Given the description of an element on the screen output the (x, y) to click on. 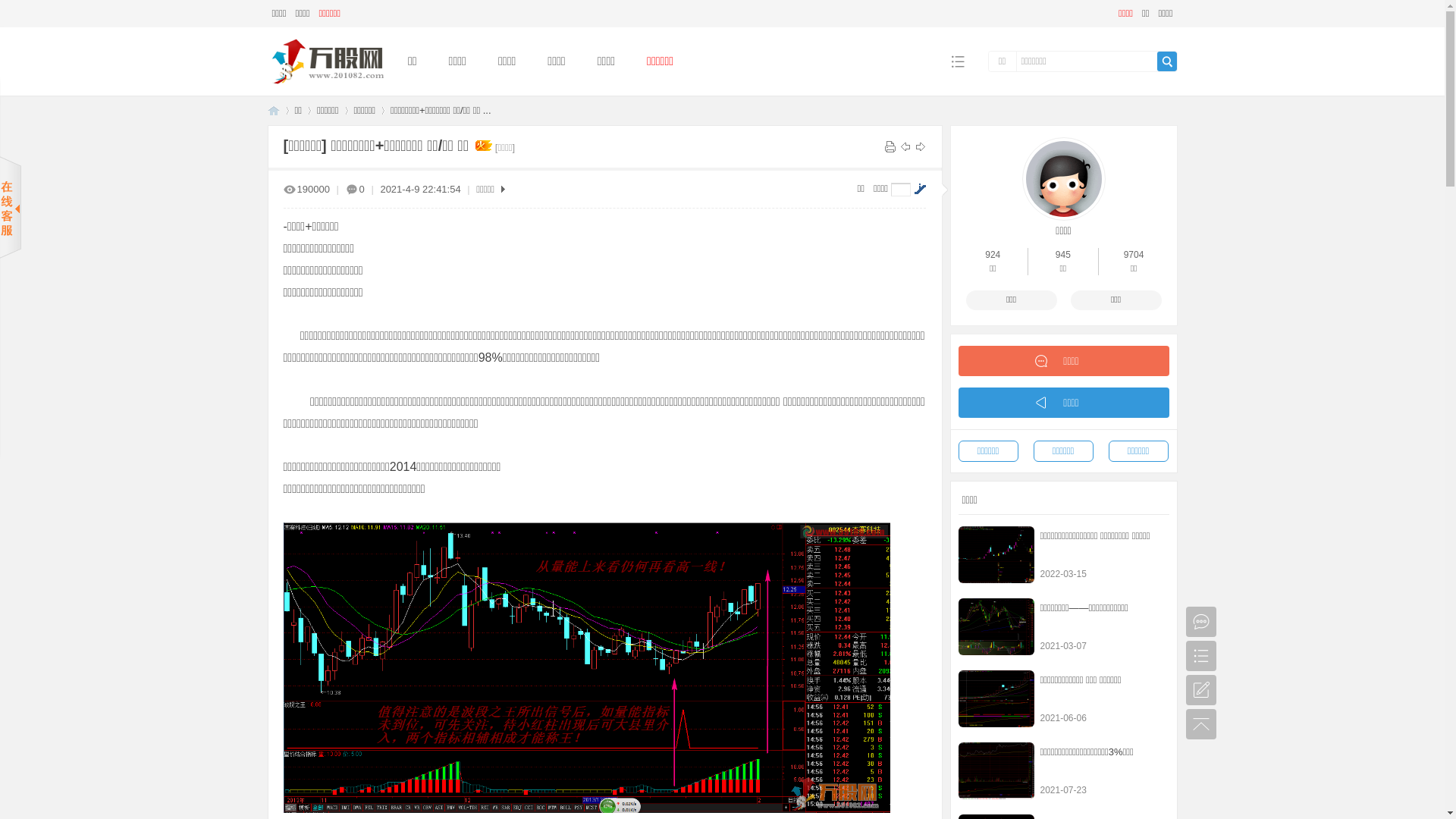
9704 Element type: text (1133, 254)
924 Element type: text (992, 254)
945 Element type: text (1062, 254)
true Element type: text (1166, 61)
